Given the description of an element on the screen output the (x, y) to click on. 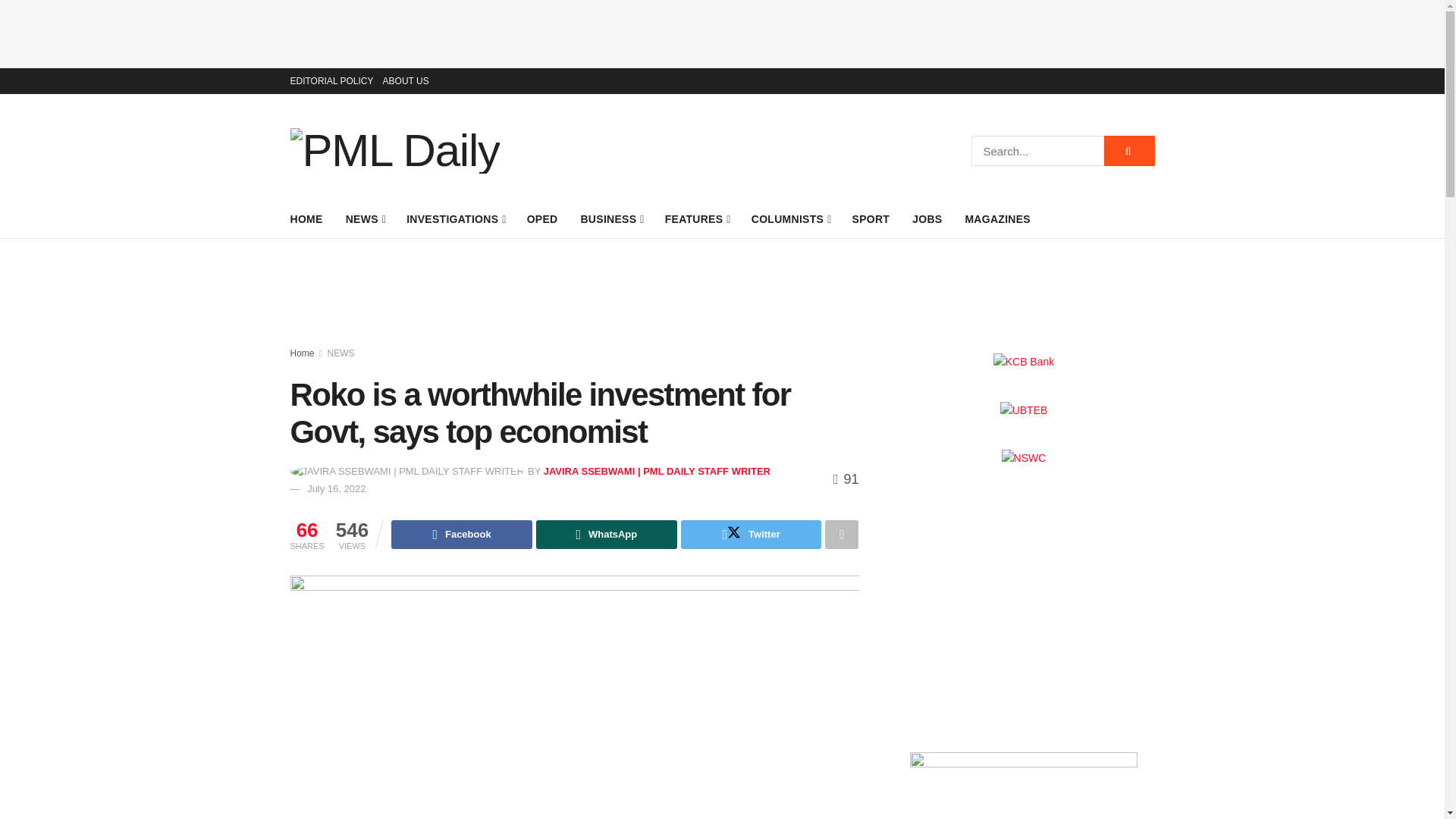
EDITORIAL POLICY (330, 80)
INVESTIGATIONS (454, 219)
ABOUT US (405, 80)
FEATURES (697, 219)
OPED (542, 219)
BUSINESS (610, 219)
JOBS (927, 219)
MAGAZINES (996, 219)
COLUMNISTS (790, 219)
HOME (305, 219)
NEWS (365, 219)
SPORT (870, 219)
